Given the description of an element on the screen output the (x, y) to click on. 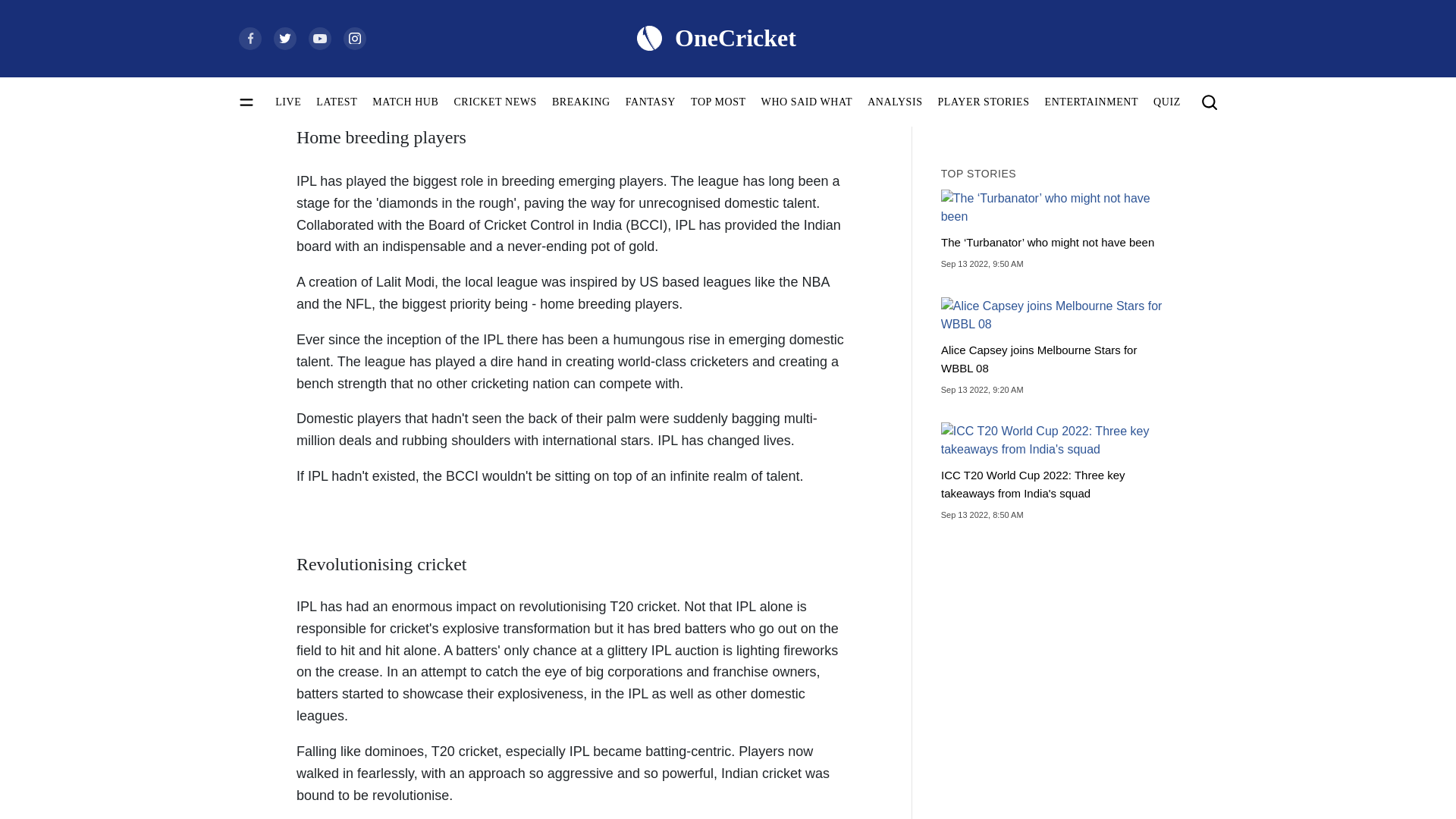
share link (1107, 101)
Alice Capsey joins Melbourne Stars for WBBL 08 (1055, 315)
share on twitter (1039, 101)
share on facebook (972, 101)
Alice Capsey joins Melbourne Stars for WBBL 08 (1055, 346)
